Given the description of an element on the screen output the (x, y) to click on. 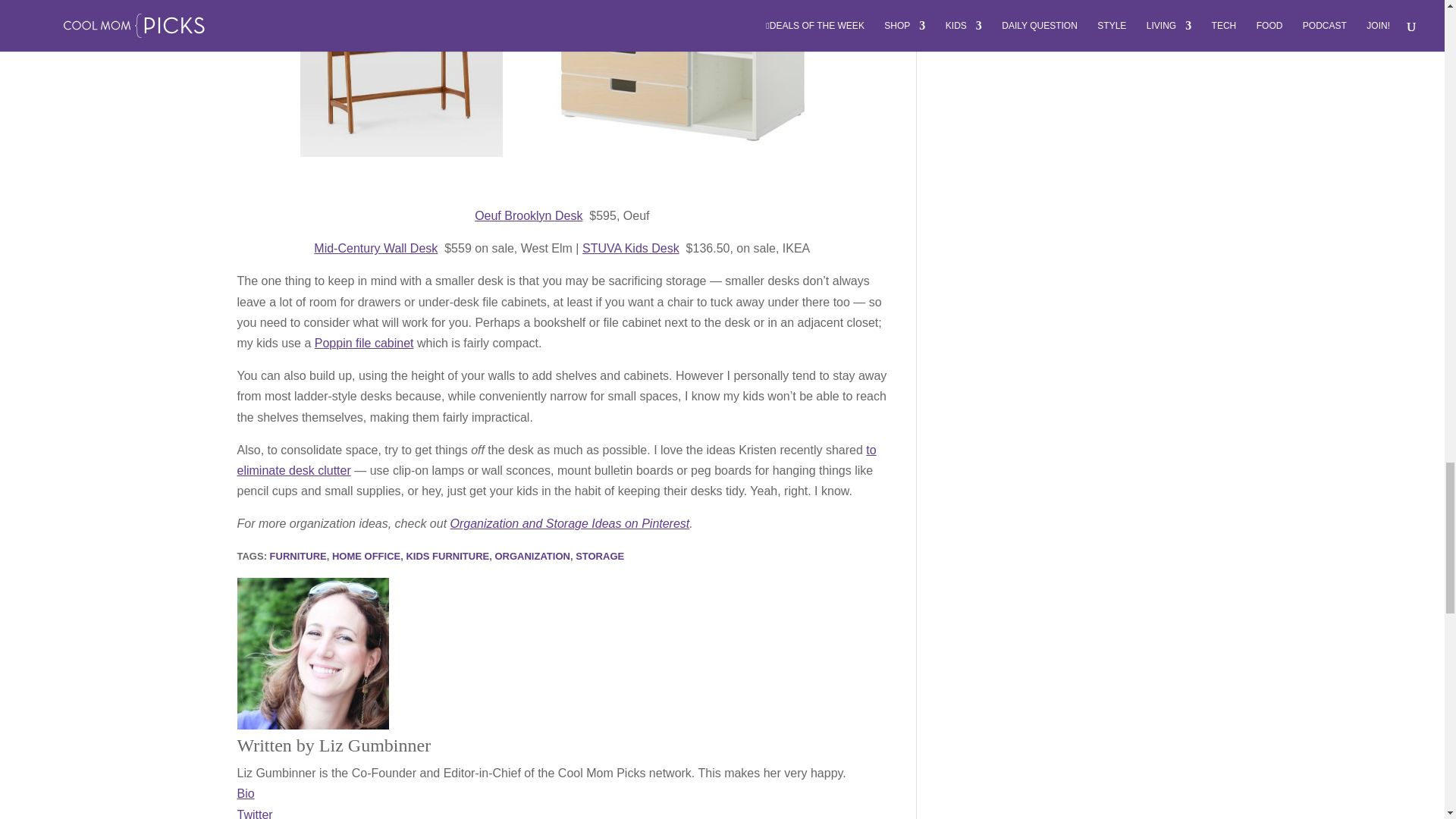
Beautiful modern kids' desks for small spaces (562, 80)
Oeuf Brooklyn Desk (528, 215)
